Given the description of an element on the screen output the (x, y) to click on. 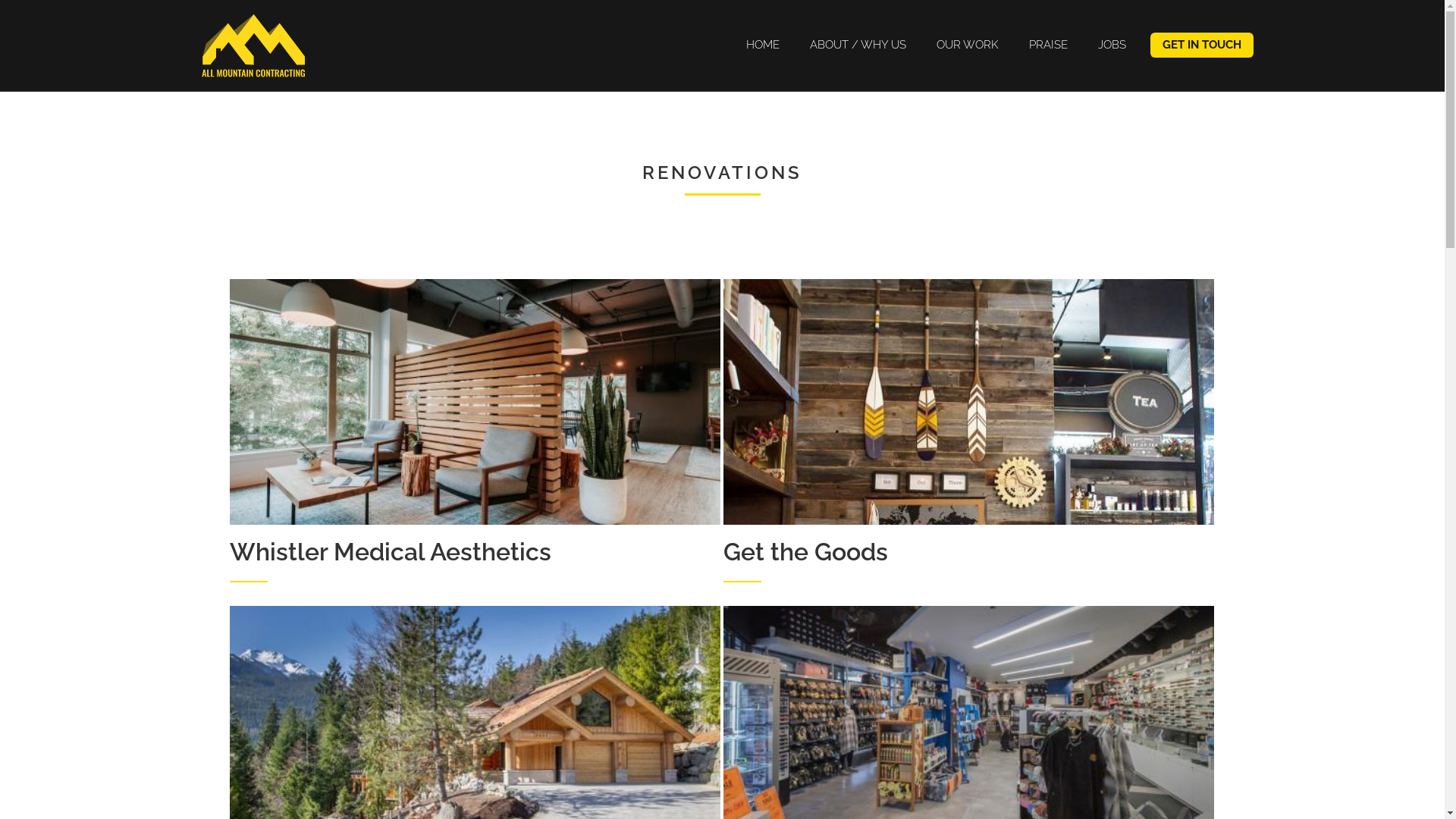
HOME Element type: text (762, 44)
Get the Goods Element type: hover (968, 440)
OUR WORK Element type: text (966, 44)
ABOUT / WHY US Element type: text (857, 44)
NewGoods Element type: hover (968, 401)
PRAISE Element type: text (1047, 44)
Whistler Medical Aesthetics Element type: hover (474, 440)
JOBS Element type: text (1111, 44)
CopyrightDarbyMagill-LowRes-1401 Element type: hover (474, 401)
GET IN TOUCH Element type: text (1200, 44)
